Given the description of an element on the screen output the (x, y) to click on. 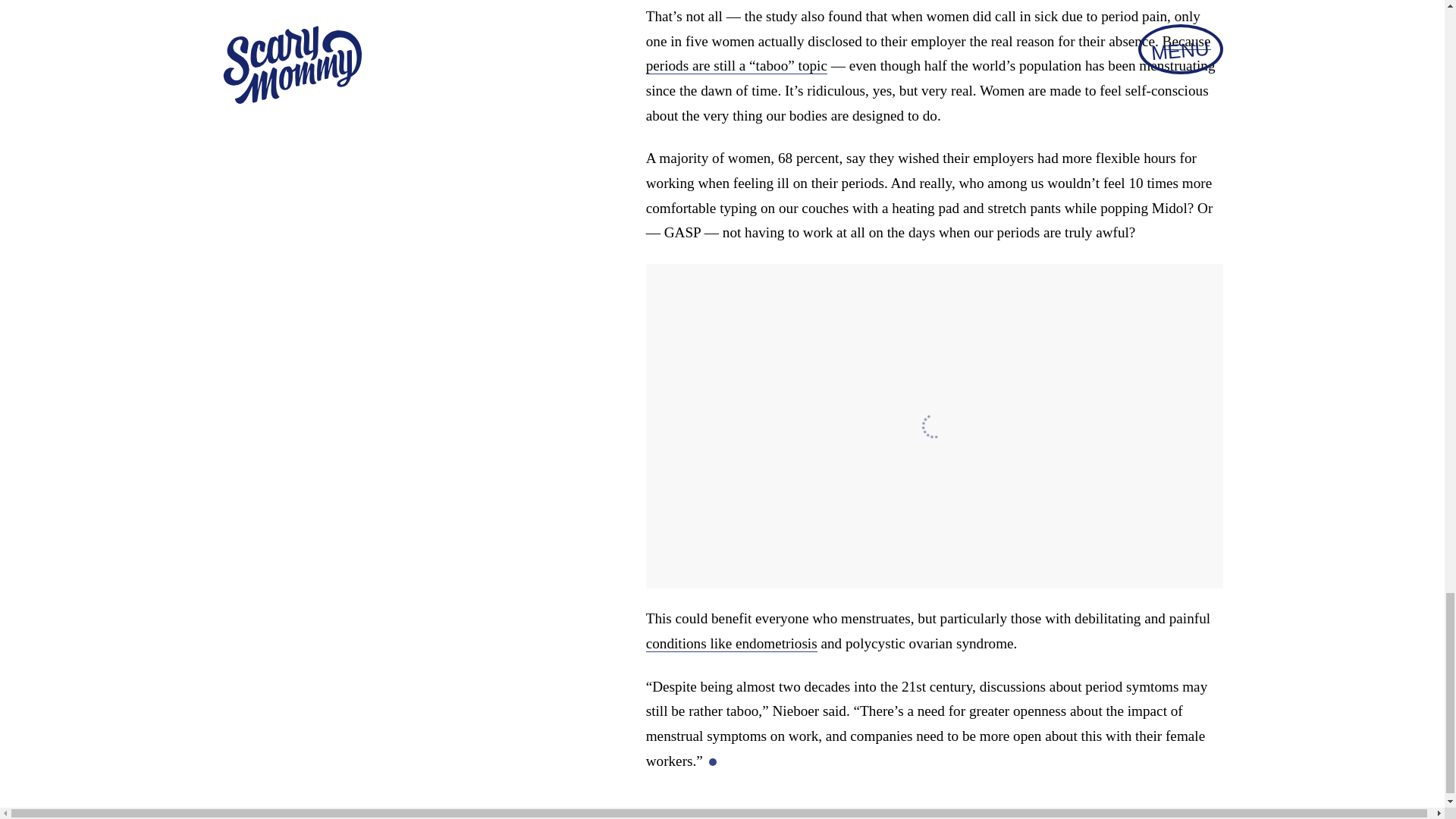
conditions like endometriosis (731, 643)
